Given the description of an element on the screen output the (x, y) to click on. 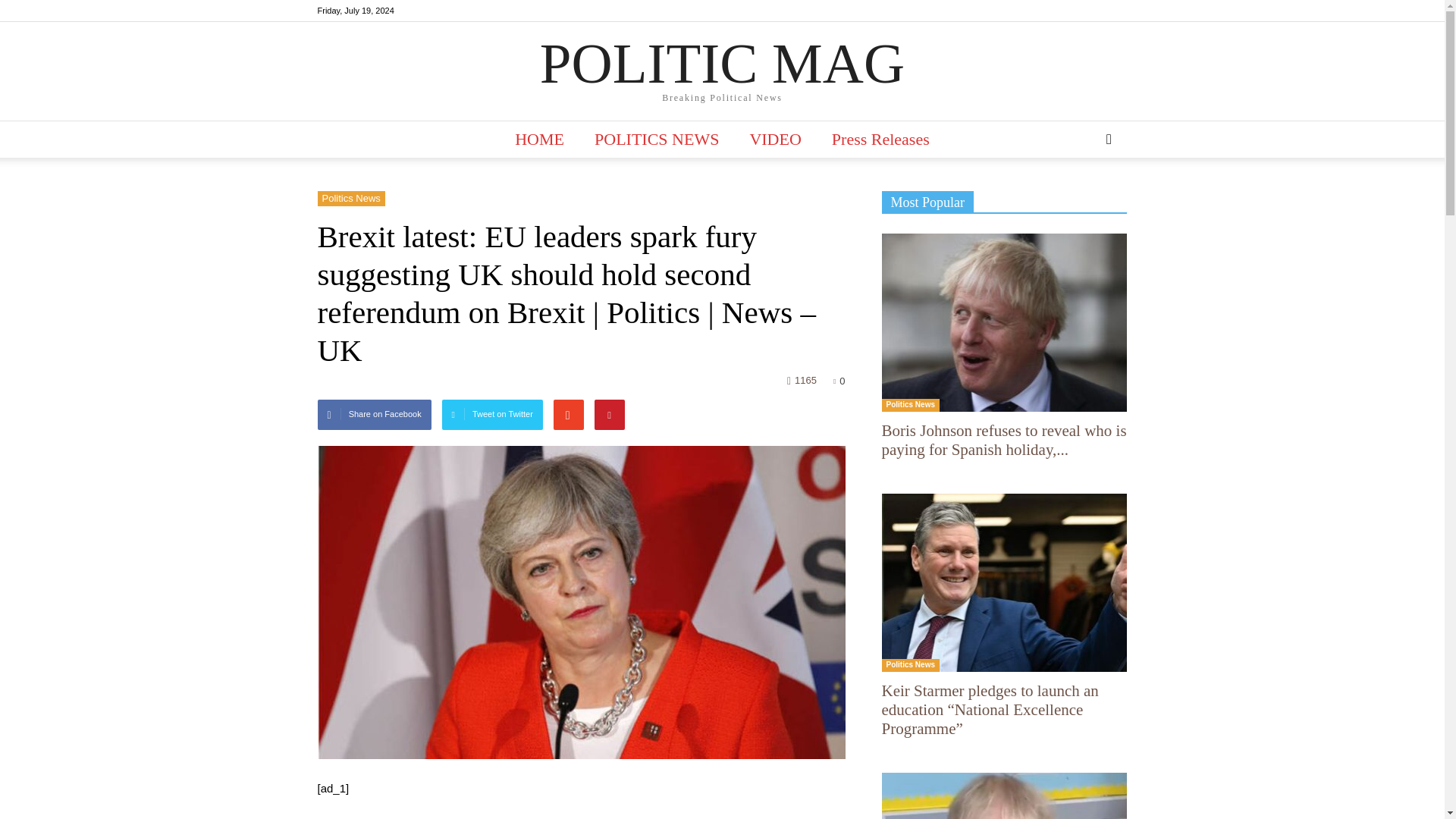
POLITICS NEWS (656, 139)
0 (838, 380)
Tweet on Twitter (492, 414)
Politics News (350, 198)
HOME (539, 139)
Share on Facebook (373, 414)
VIDEO (774, 139)
Press Releases (880, 139)
POLITIC MAG Breaking Political News (722, 72)
